Given the description of an element on the screen output the (x, y) to click on. 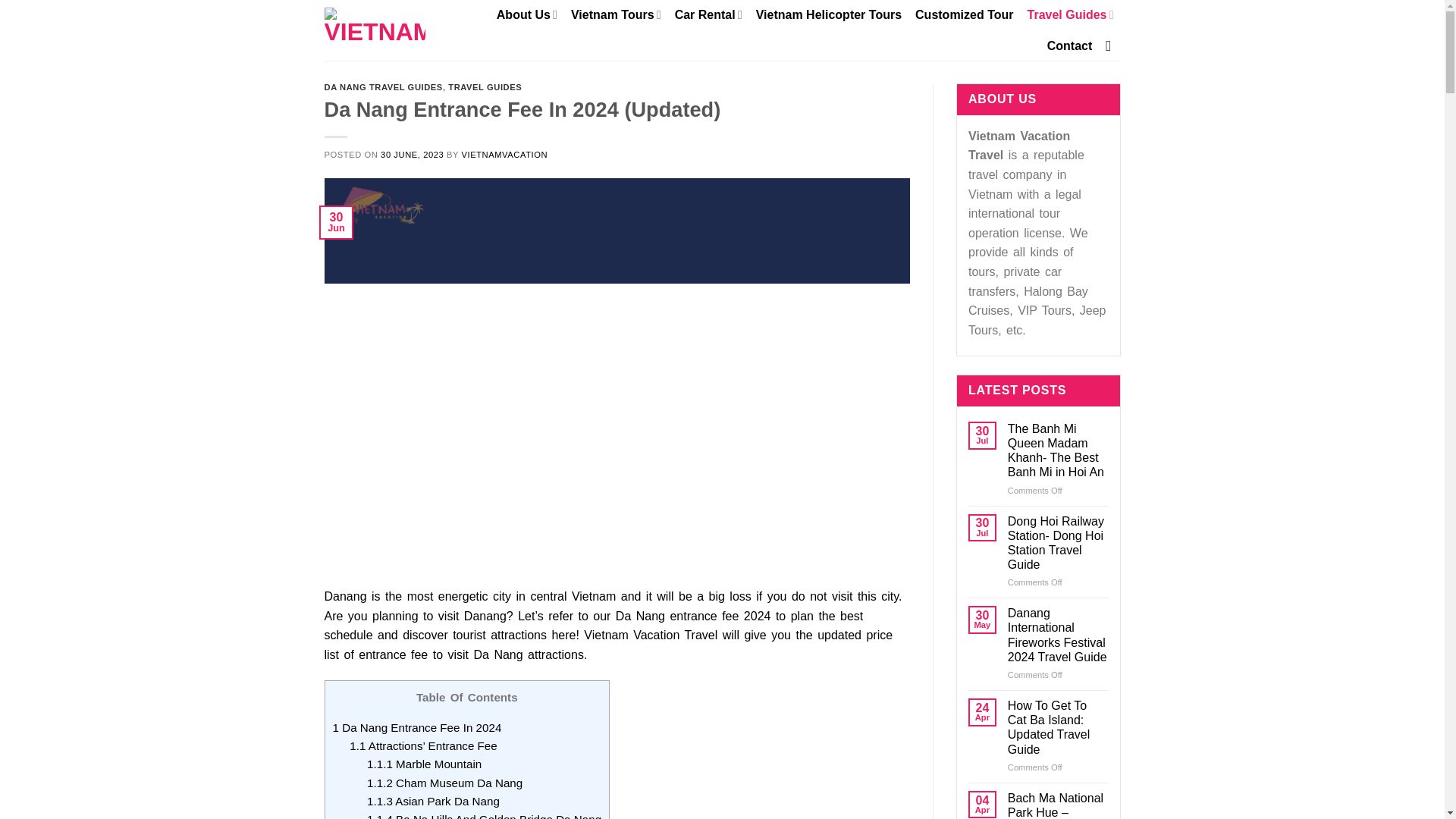
How To Get To Cat Ba Island: Updated Travel Guide (1057, 727)
The Banh Mi Queen Madam Khanh- The Best Banh Mi in Hoi An (1057, 450)
About Us (526, 14)
Danang International Fireworks Festival 2024 Travel Guide (1057, 635)
Vietnam Helicopter Tours (828, 14)
Vietnam Tours (615, 14)
Dong Hoi Railway Station- Dong Hoi Station Travel Guide (1057, 543)
Car Rental (708, 14)
Customized Tour (964, 14)
